Given the description of an element on the screen output the (x, y) to click on. 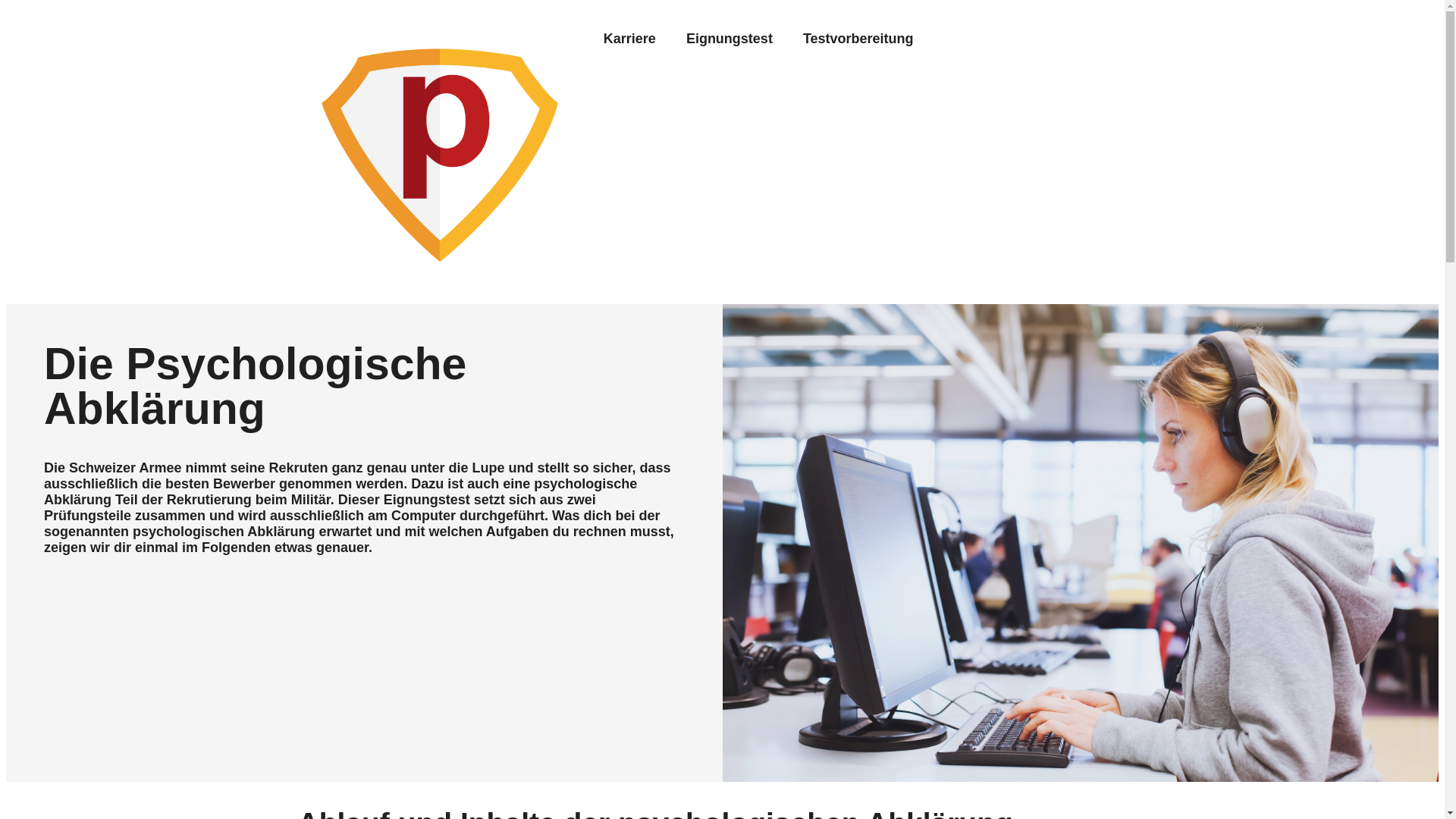
Karriere Element type: text (629, 38)
Eignungstest Element type: text (729, 38)
Testvorbereitung Element type: text (857, 38)
